Given the description of an element on the screen output the (x, y) to click on. 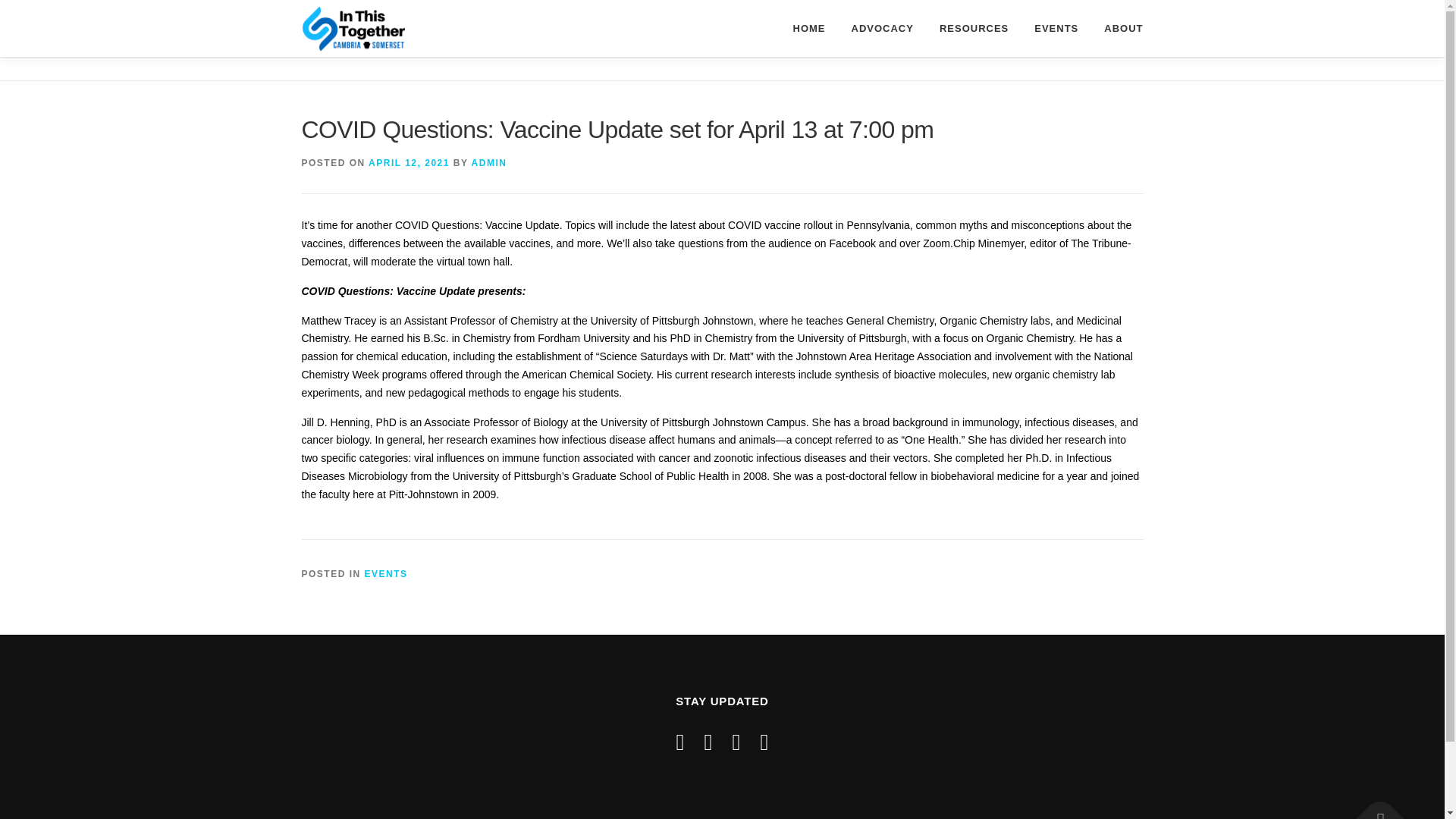
Back To Top (1372, 807)
EVENTS (1056, 28)
ADVOCACY (882, 28)
APRIL 12, 2021 (408, 163)
HOME (808, 28)
EVENTS (386, 573)
ADMIN (488, 163)
RESOURCES (974, 28)
ABOUT (1116, 28)
